Given the description of an element on the screen output the (x, y) to click on. 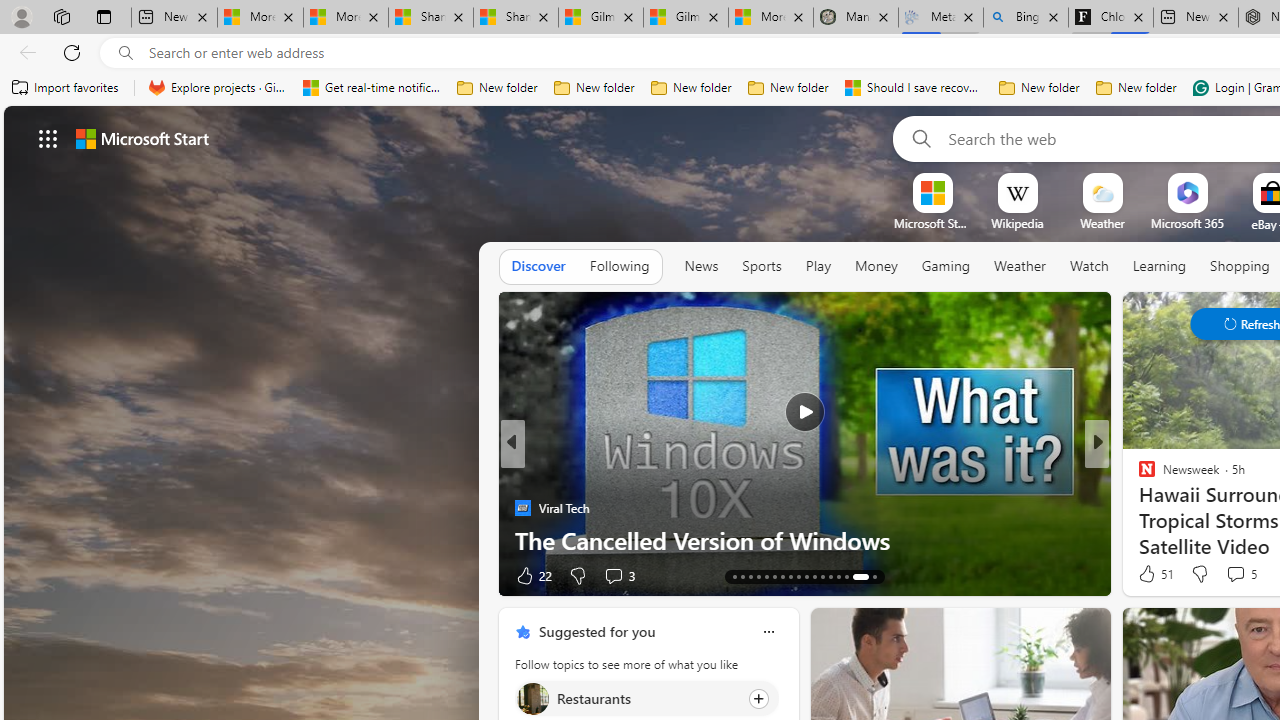
Viral Tech (522, 507)
Import favorites (65, 88)
Restaurants (532, 697)
AutomationID: tab-24 (789, 576)
Click to follow topic Restaurants (646, 698)
You're following Newsweek (445, 579)
AutomationID: tab-17 (733, 576)
Wikipedia (1017, 223)
AutomationID: tab-32 (859, 576)
